Given the description of an element on the screen output the (x, y) to click on. 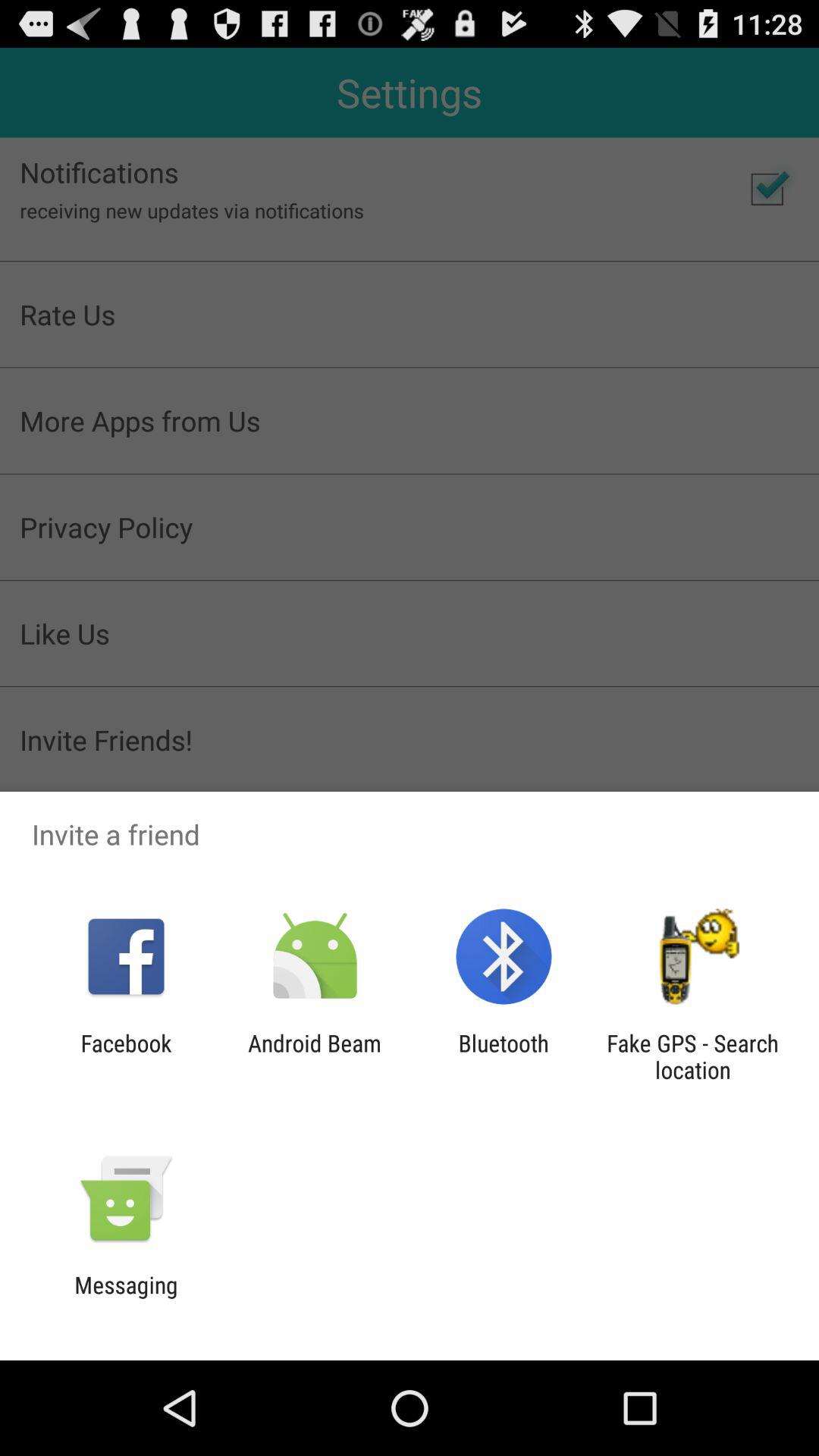
turn off bluetooth icon (503, 1056)
